Given the description of an element on the screen output the (x, y) to click on. 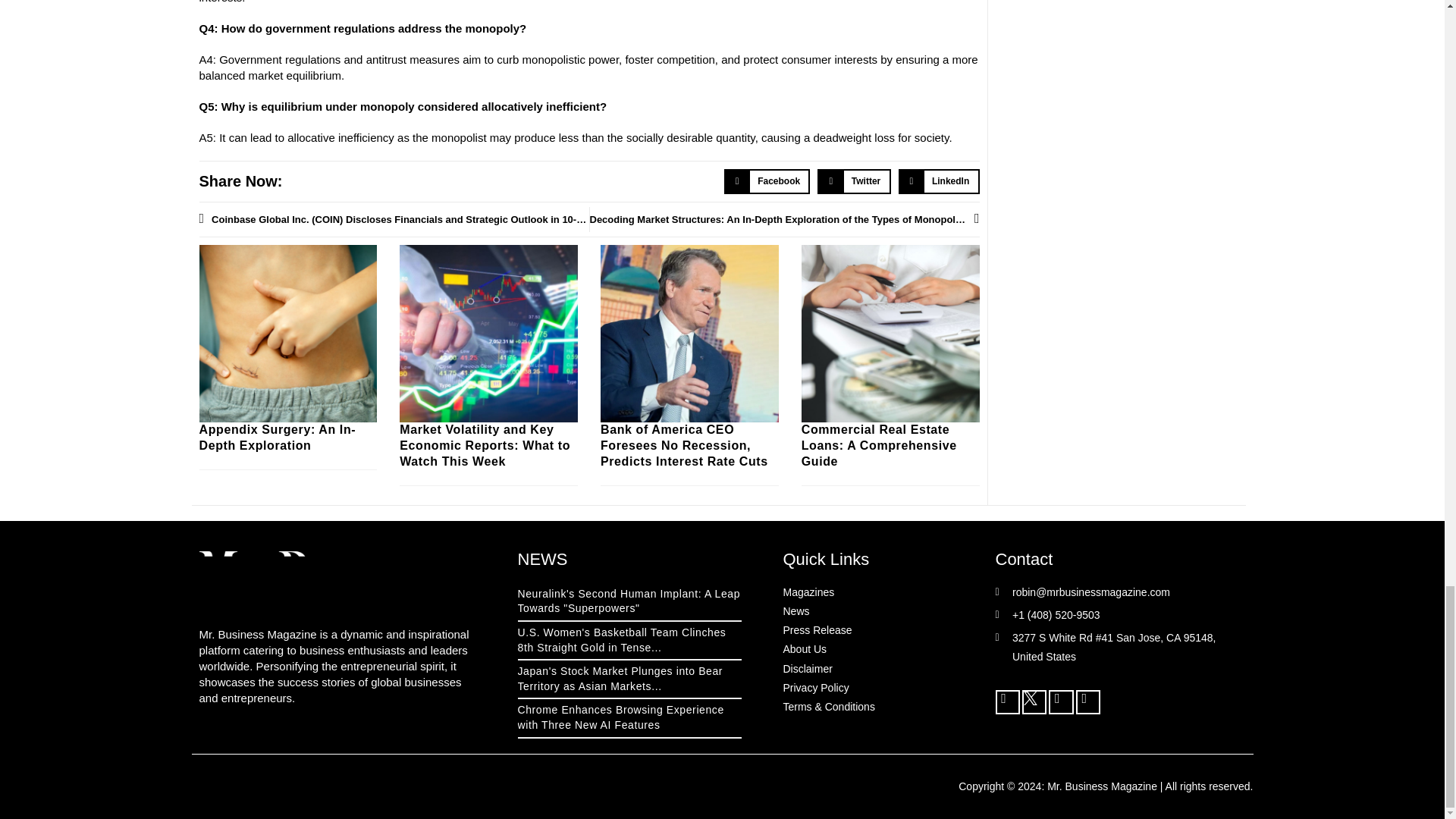
Appendix Surgery: An In-Depth Exploration (276, 437)
